Given the description of an element on the screen output the (x, y) to click on. 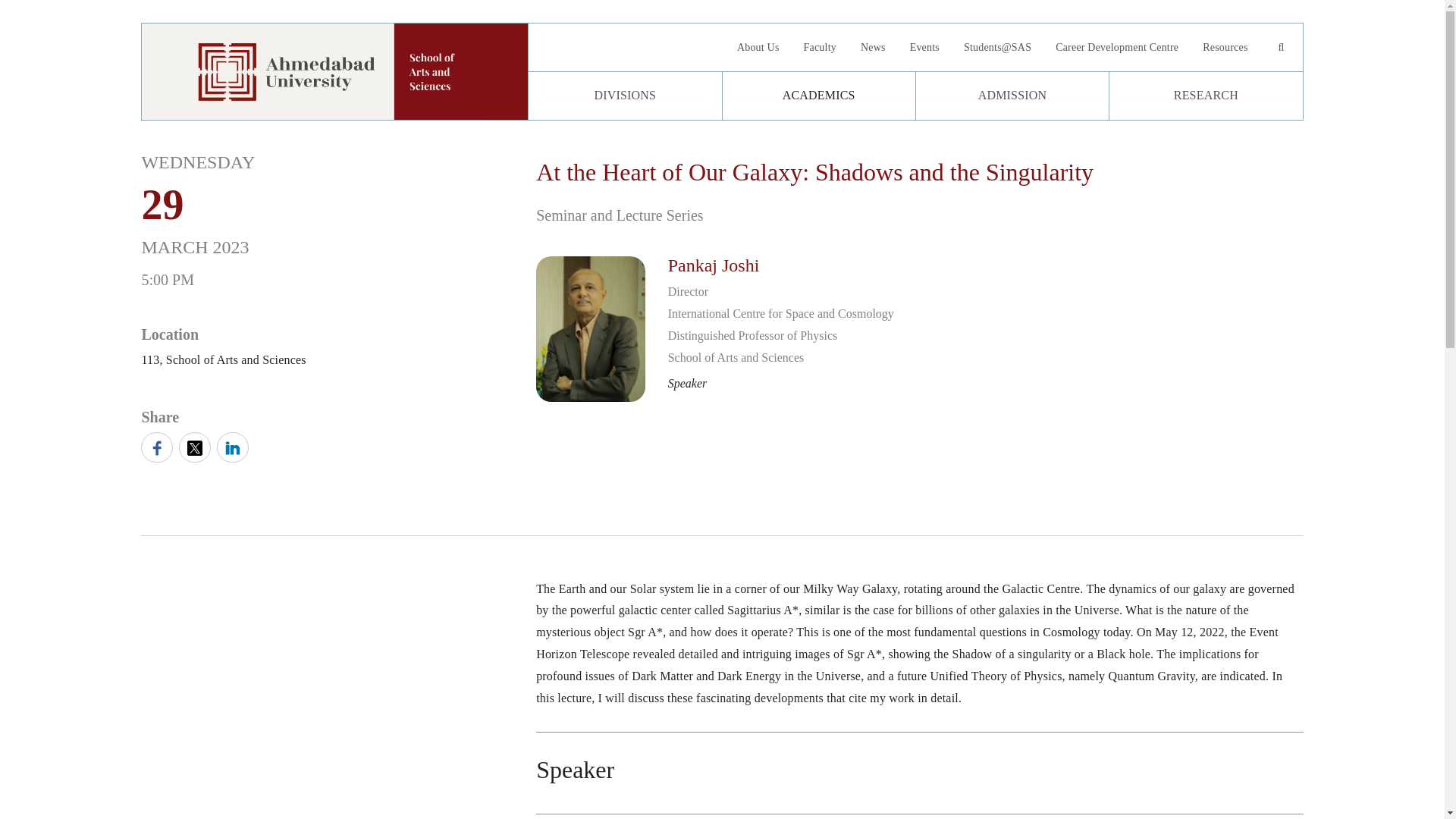
Events (925, 47)
ACADEMICS (818, 96)
RESEARCH (1205, 96)
Career Development Centre (1117, 47)
News (873, 47)
ADMISSION (1011, 96)
Faculty (820, 47)
Resources (1225, 47)
DIVISIONS (624, 96)
About Us (758, 47)
